Given the description of an element on the screen output the (x, y) to click on. 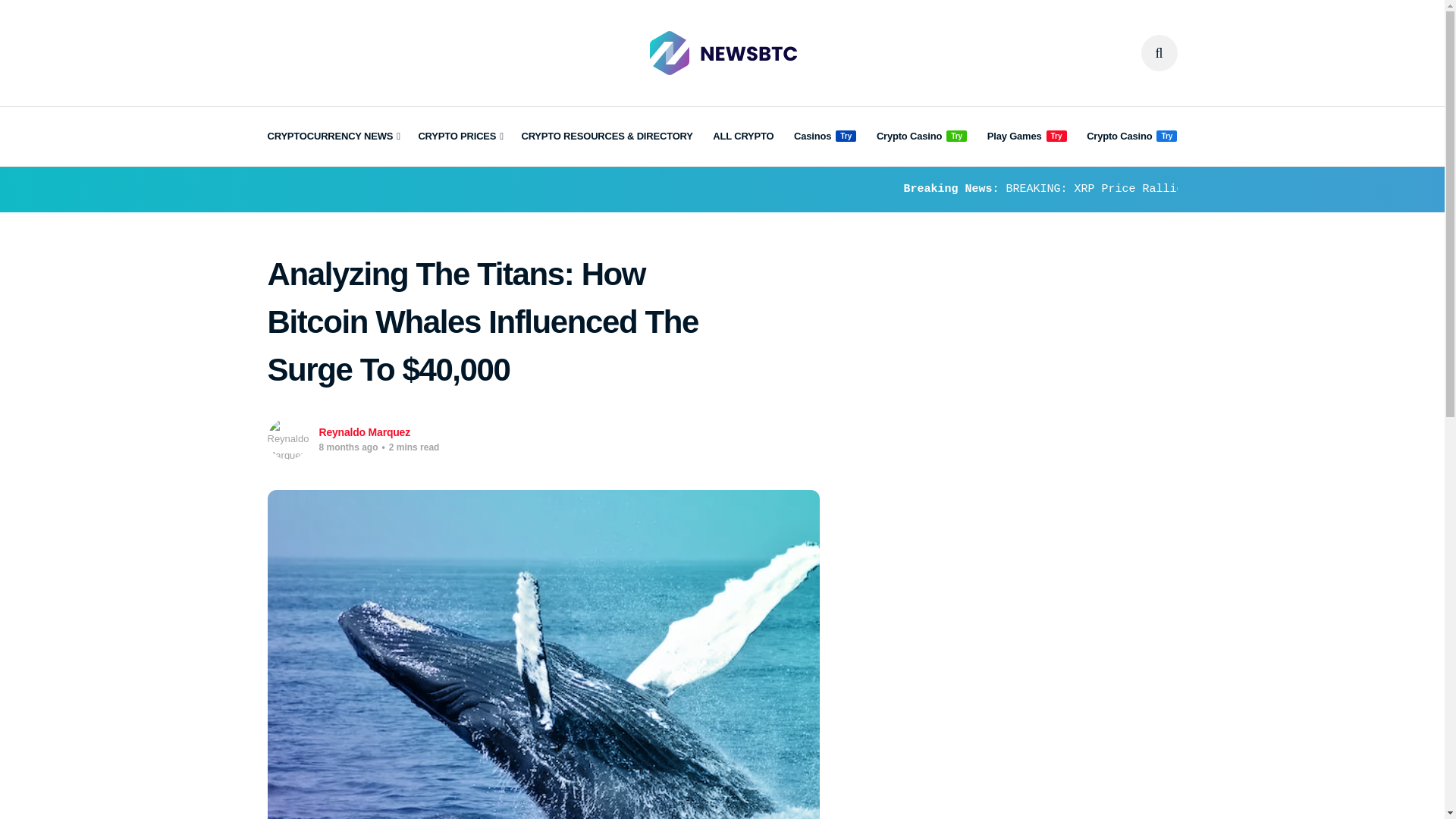
ALL CRYPTO (743, 136)
CRYPTOCURRENCY NEWS (331, 136)
CRYPTO PRICES (458, 136)
